Given the description of an element on the screen output the (x, y) to click on. 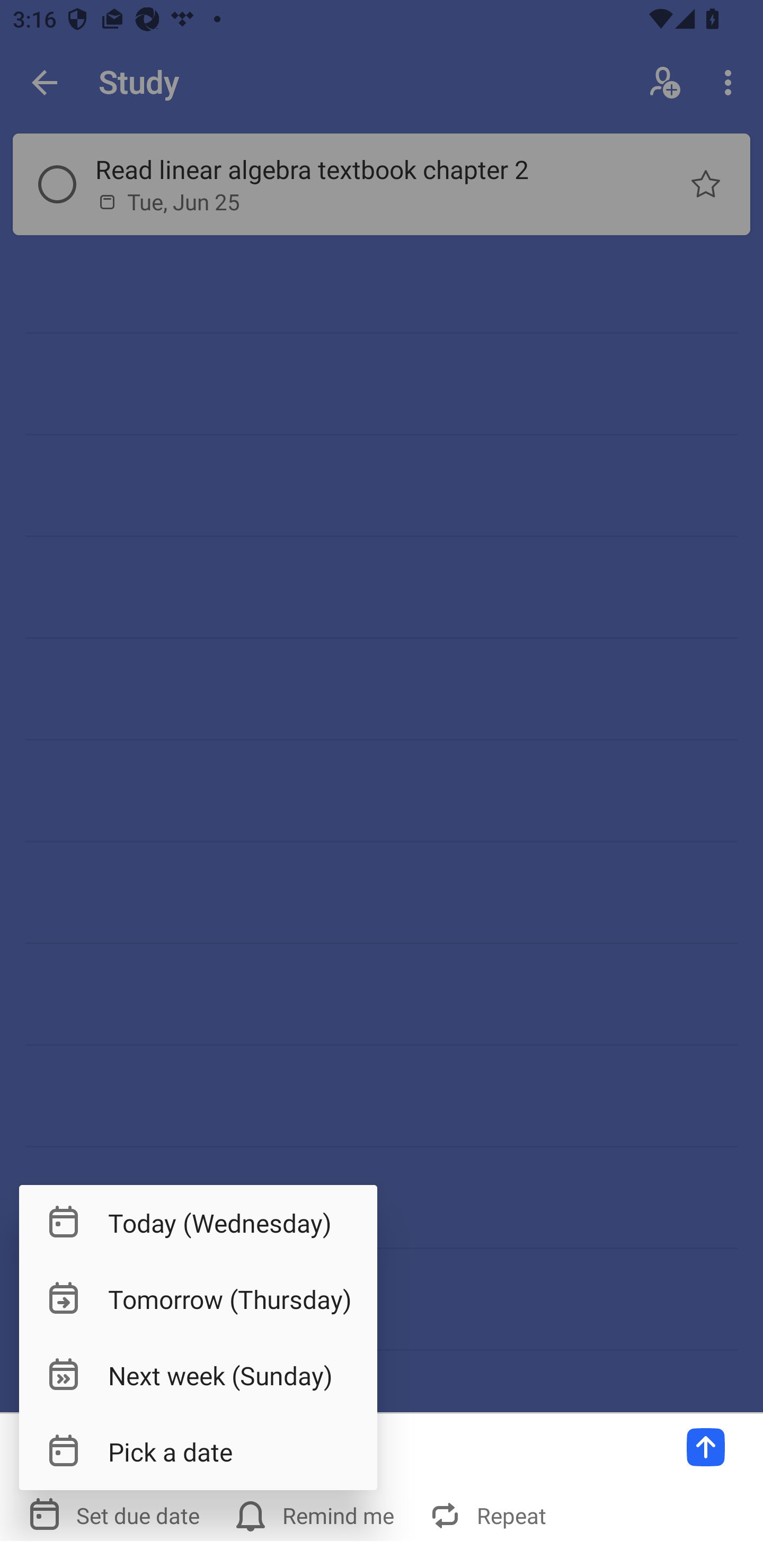
Pick a date4 in 4 Pick a date (197, 1451)
